Given the description of an element on the screen output the (x, y) to click on. 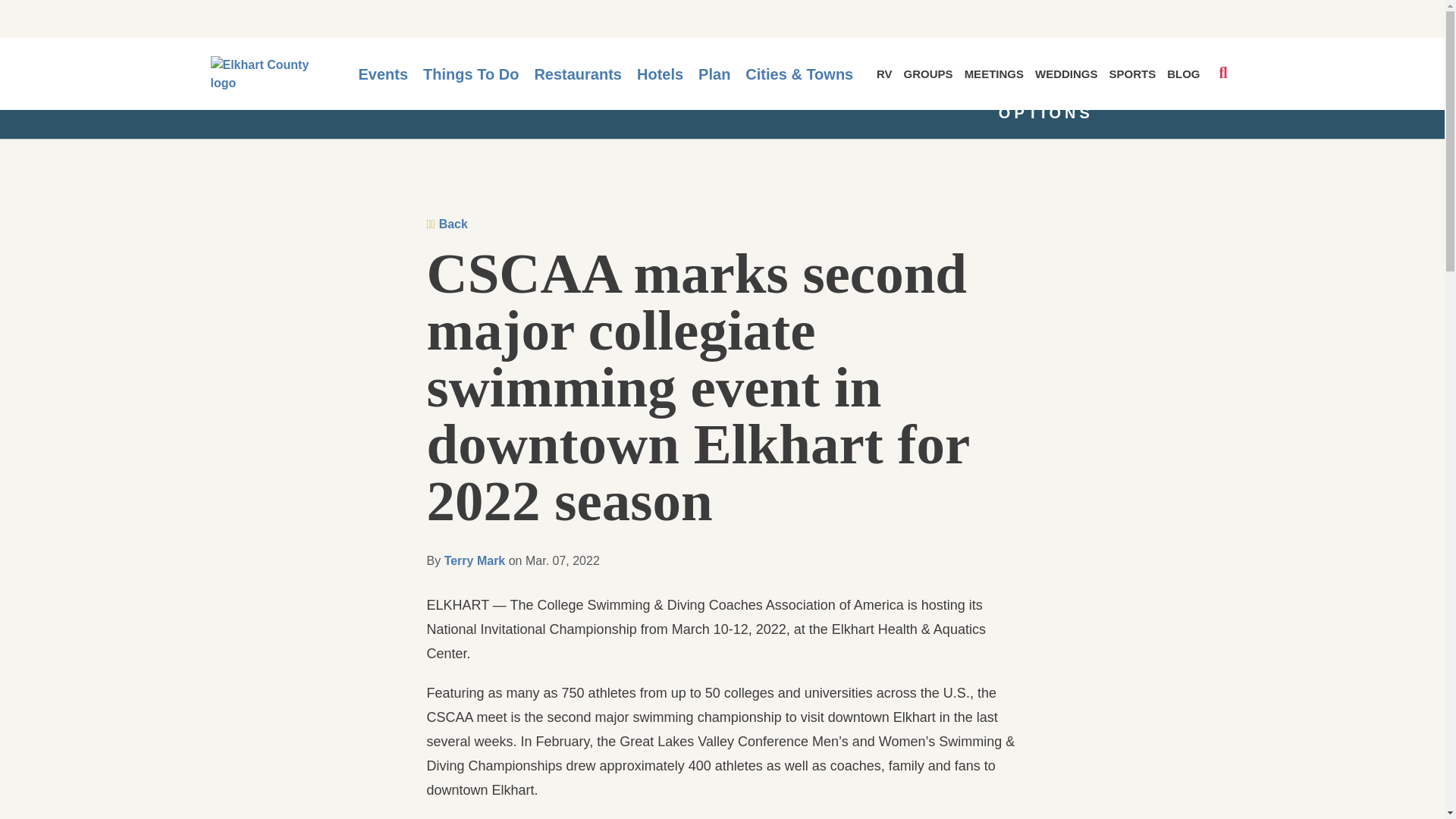
Events (382, 73)
Things To Do (470, 73)
Events (382, 73)
Things To Do (470, 73)
